Given the description of an element on the screen output the (x, y) to click on. 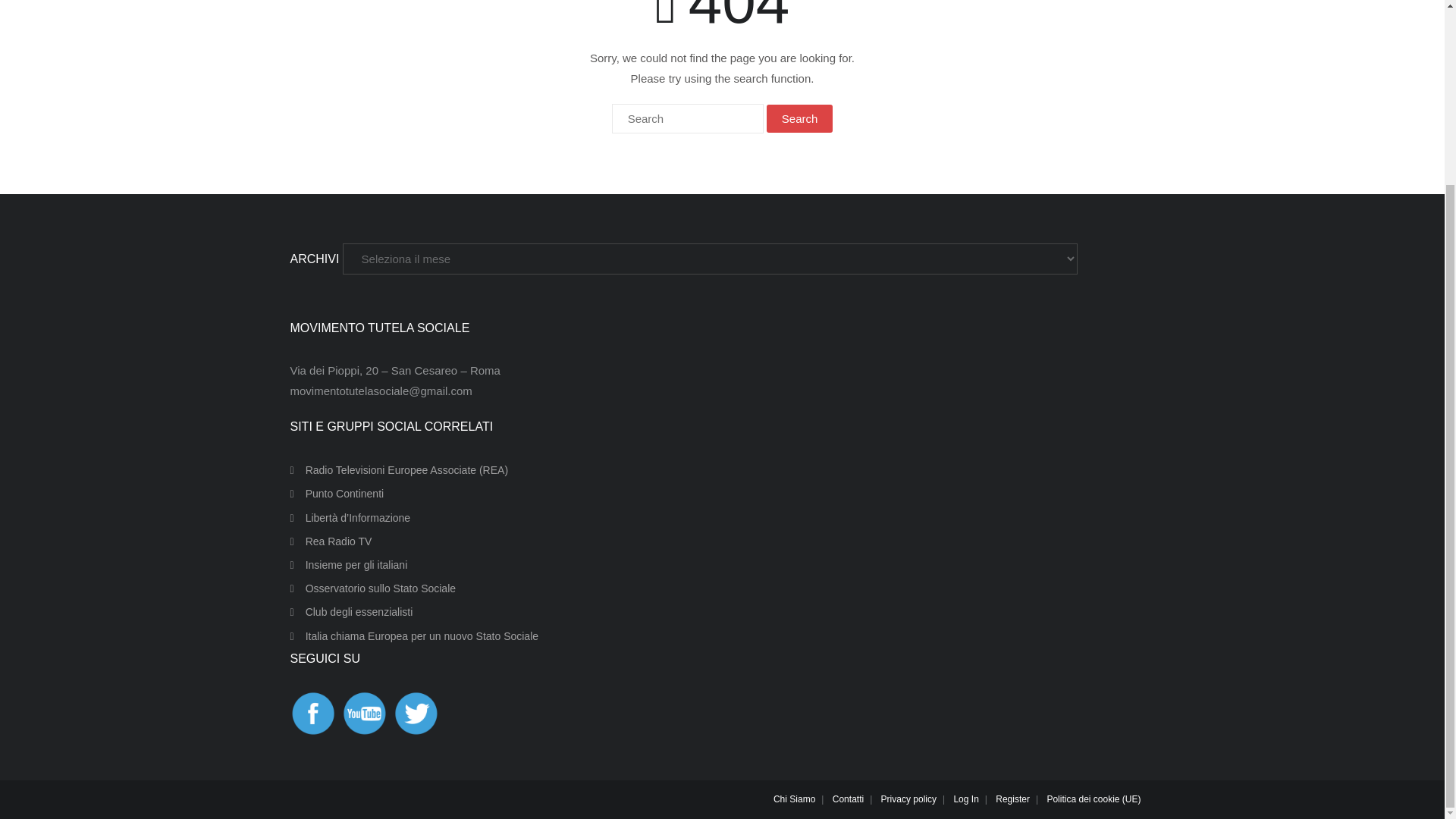
Search (799, 118)
Search (799, 118)
Club degli essenzialisti (350, 611)
Search (799, 118)
Insieme per gli italiani (348, 565)
Osservatorio sullo Stato Sociale (372, 588)
Punto Continenti (336, 494)
Rea Radio TV (330, 541)
